Given the description of an element on the screen output the (x, y) to click on. 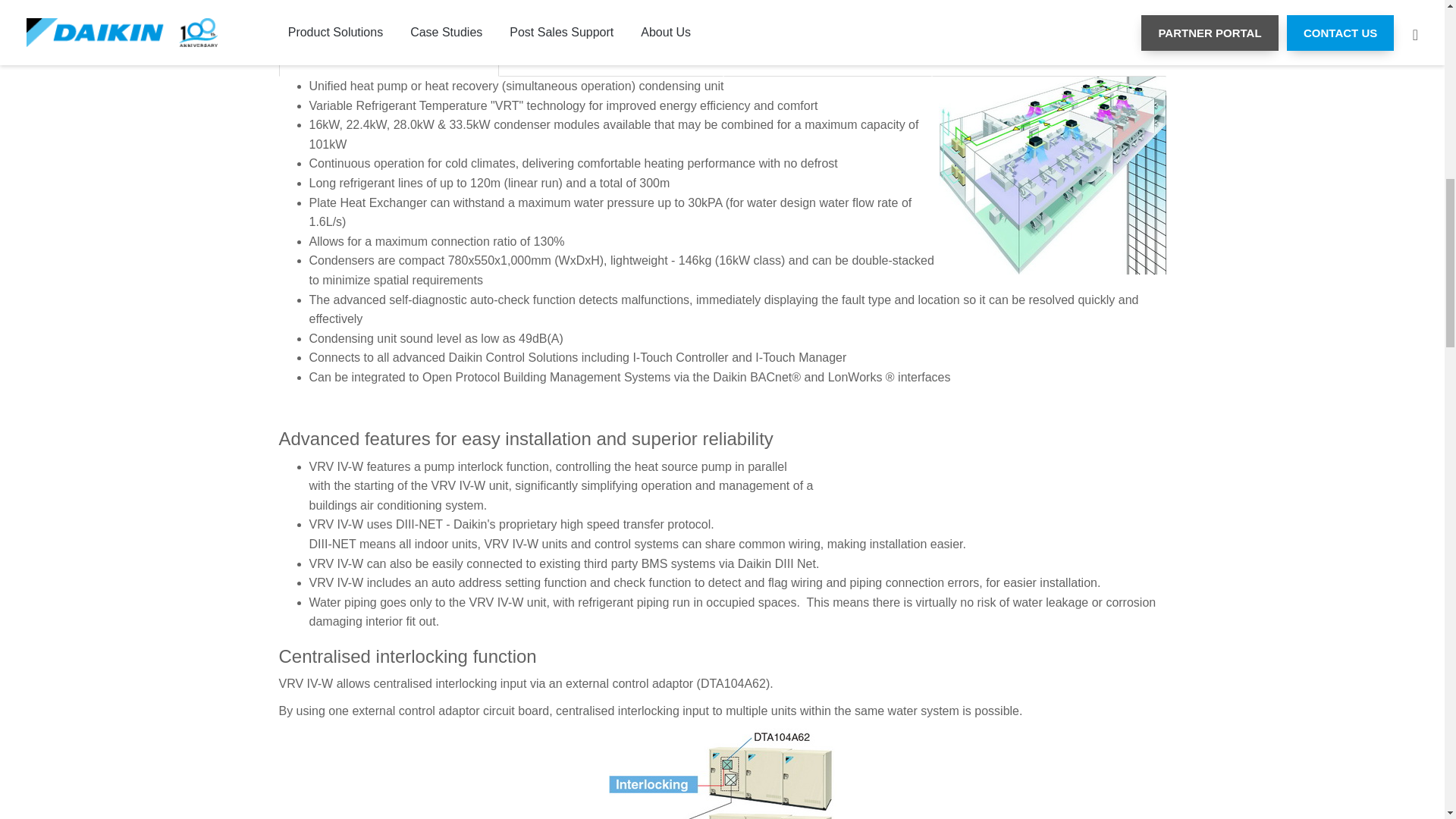
Features (389, 59)
Centralised interlocking function (721, 773)
Heat Recovery (610, 59)
